Given the description of an element on the screen output the (x, y) to click on. 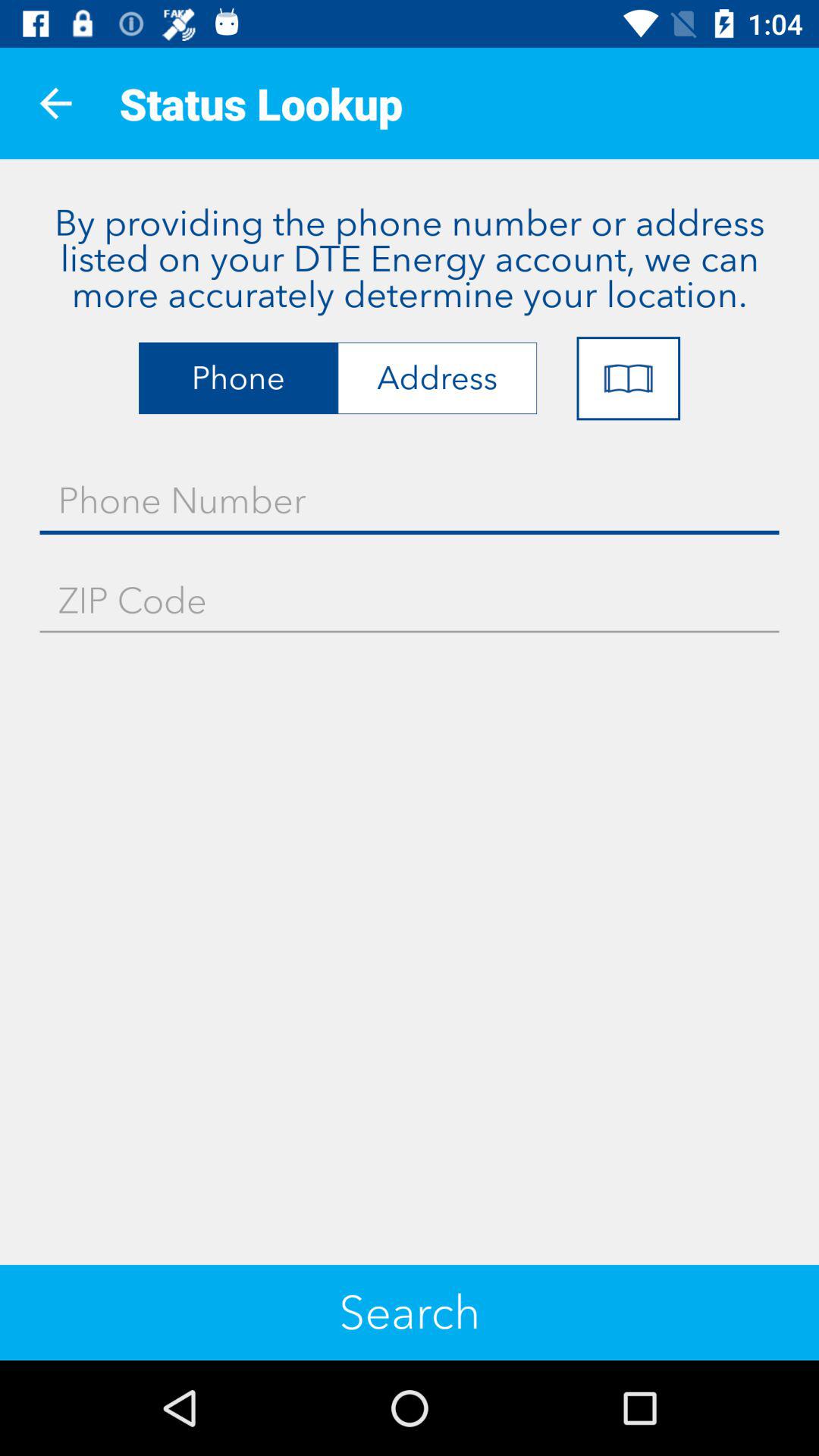
open the item above search item (409, 600)
